Given the description of an element on the screen output the (x, y) to click on. 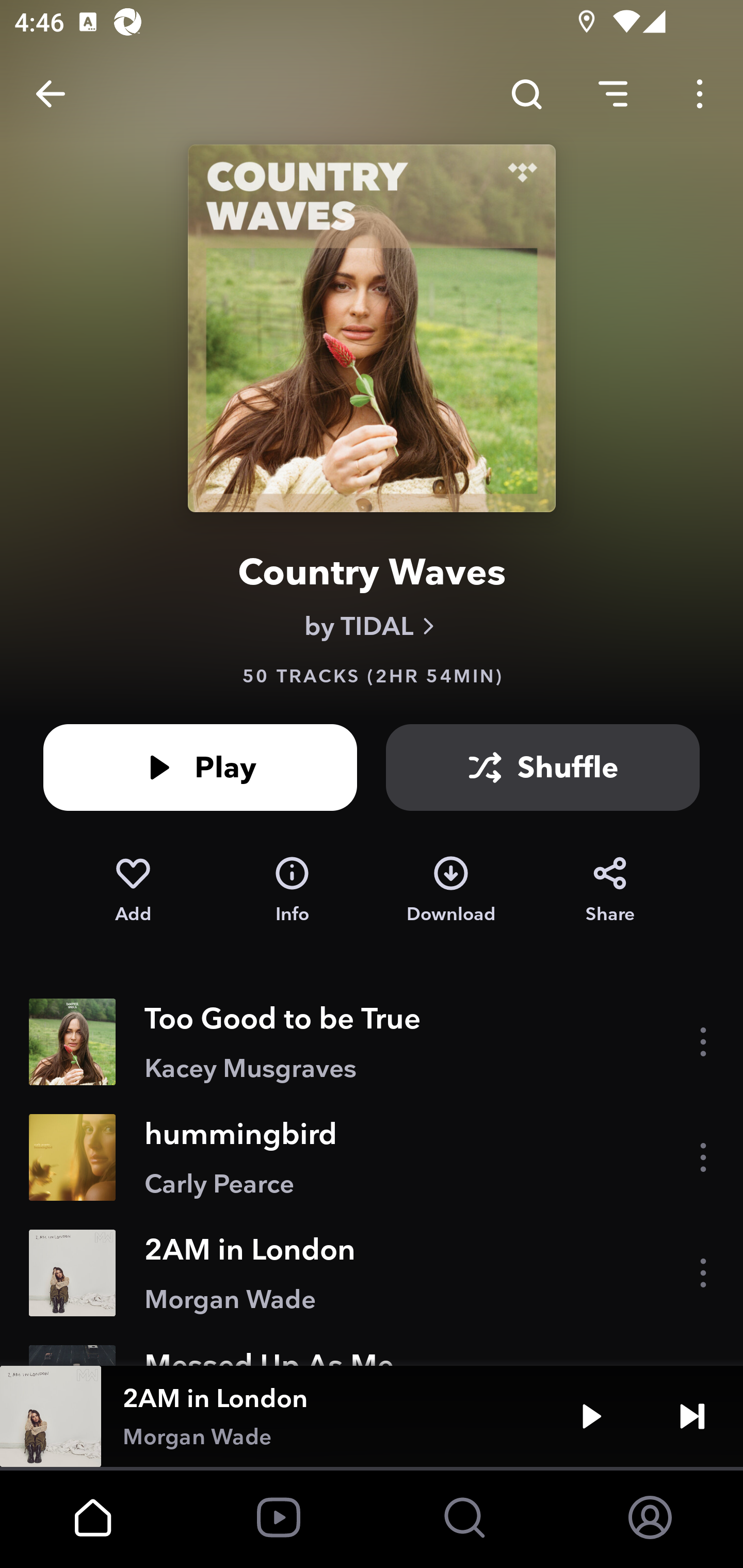
Back (50, 93)
Search (525, 93)
Sorting (612, 93)
Options (699, 93)
by TIDAL (371, 625)
Play (200, 767)
Shuffle (542, 767)
Add (132, 890)
Info (291, 890)
Download (450, 890)
Share (609, 890)
Too Good to be True Kacey Musgraves (371, 1041)
hummingbird Carly Pearce (371, 1157)
2AM in London Morgan Wade (371, 1273)
2AM in London Morgan Wade Play (371, 1416)
Play (590, 1416)
